Given the description of an element on the screen output the (x, y) to click on. 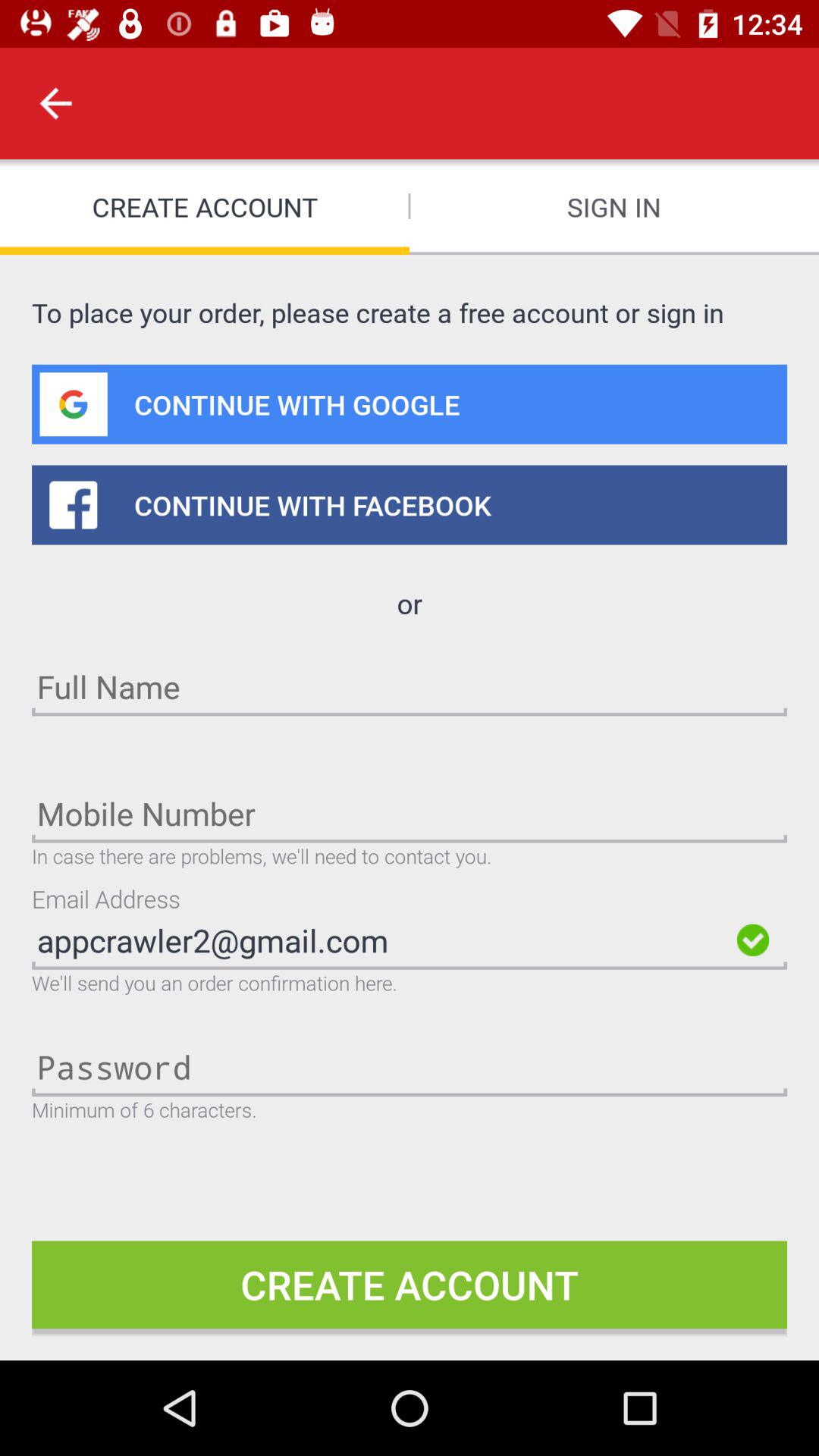
choose item below email address (380, 939)
